Given the description of an element on the screen output the (x, y) to click on. 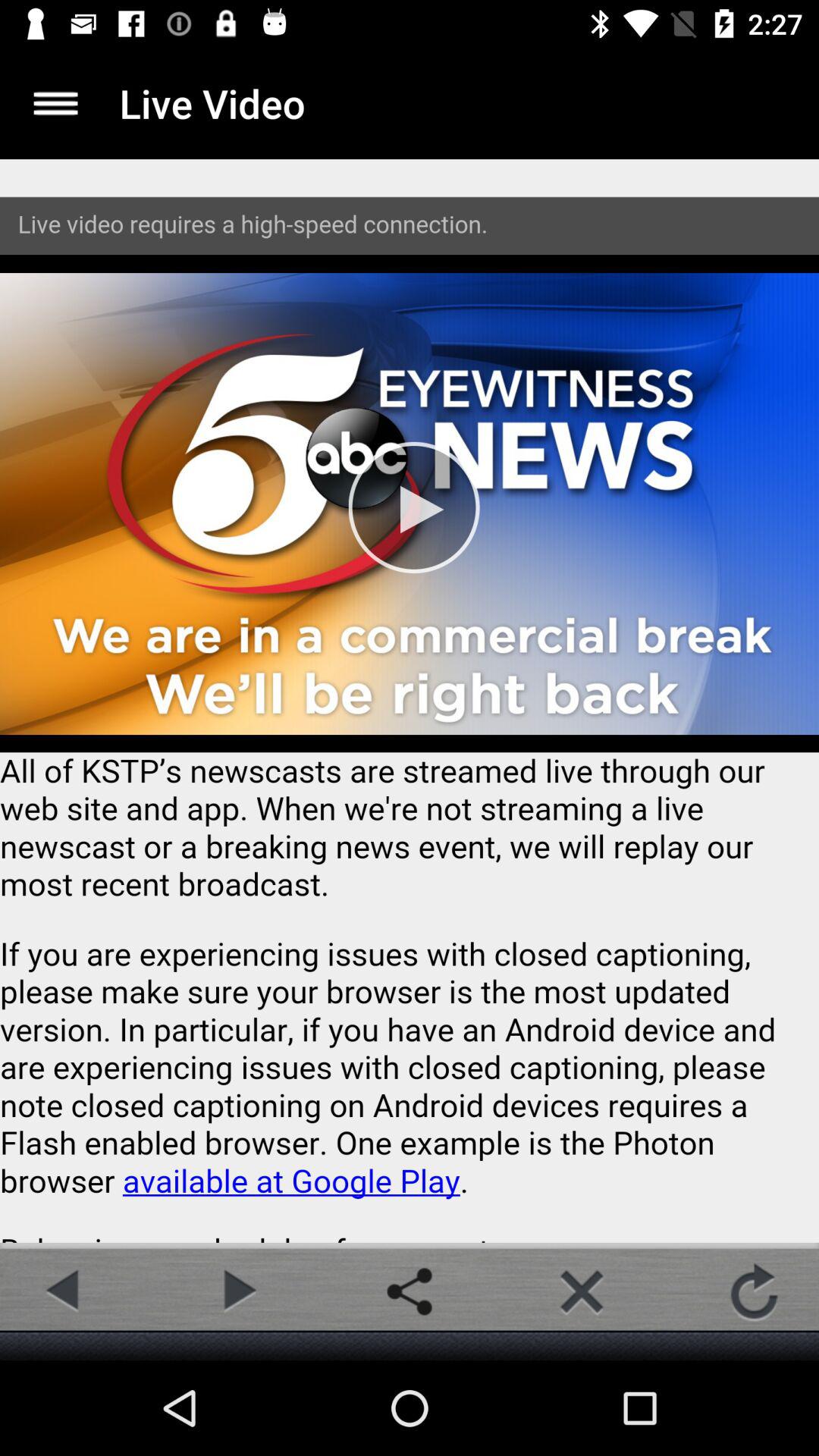
go to play (237, 1291)
